Given the description of an element on the screen output the (x, y) to click on. 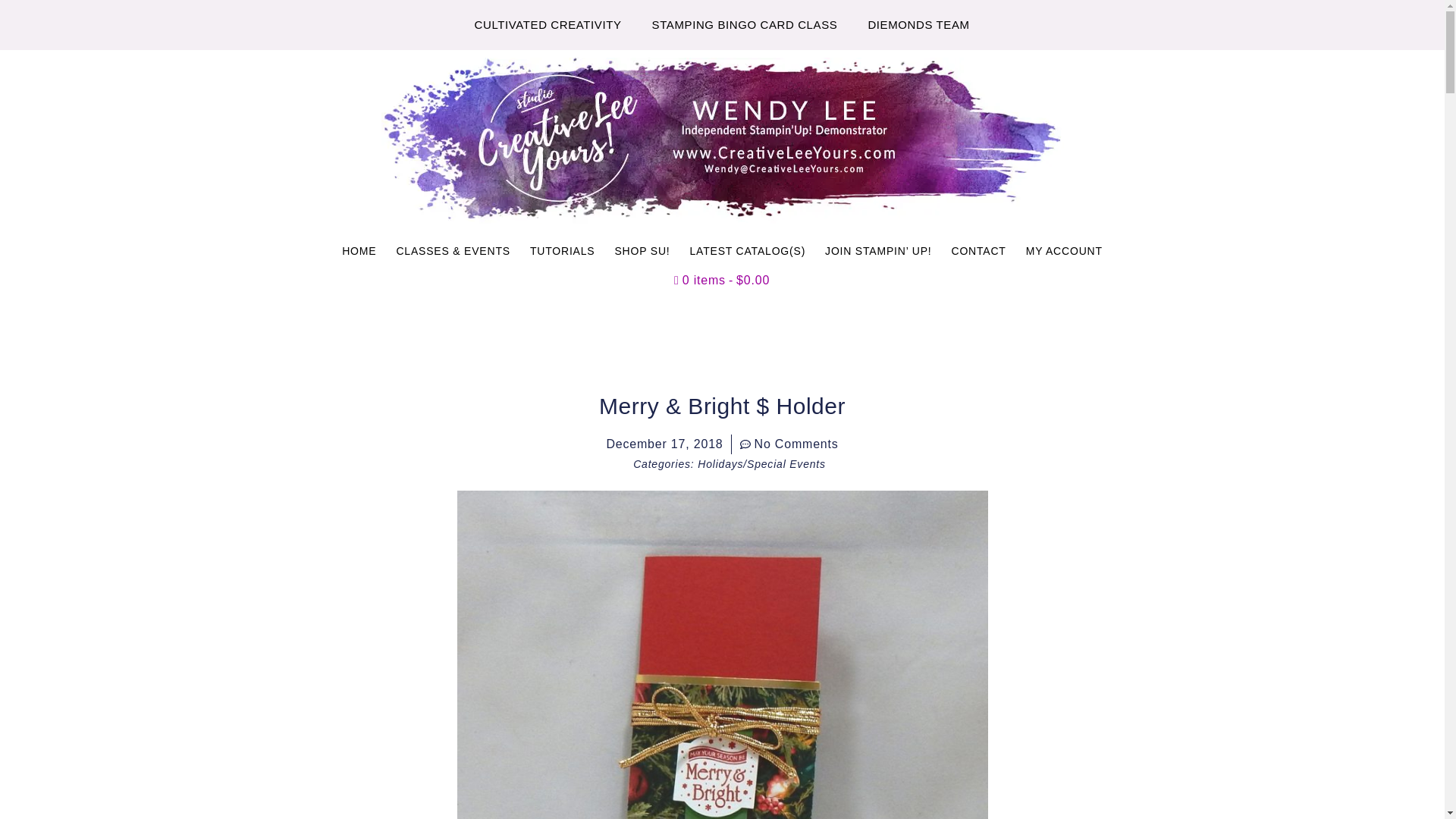
SHOP SU! (641, 250)
Start shopping (721, 280)
DIEMONDS TEAM (917, 24)
STAMPING BINGO CARD CLASS (745, 24)
December 17, 2018 (663, 444)
MY ACCOUNT (1064, 250)
CULTIVATED CREATIVITY (548, 24)
No Comments (788, 444)
TUTORIALS (562, 250)
HOME (358, 250)
